Given the description of an element on the screen output the (x, y) to click on. 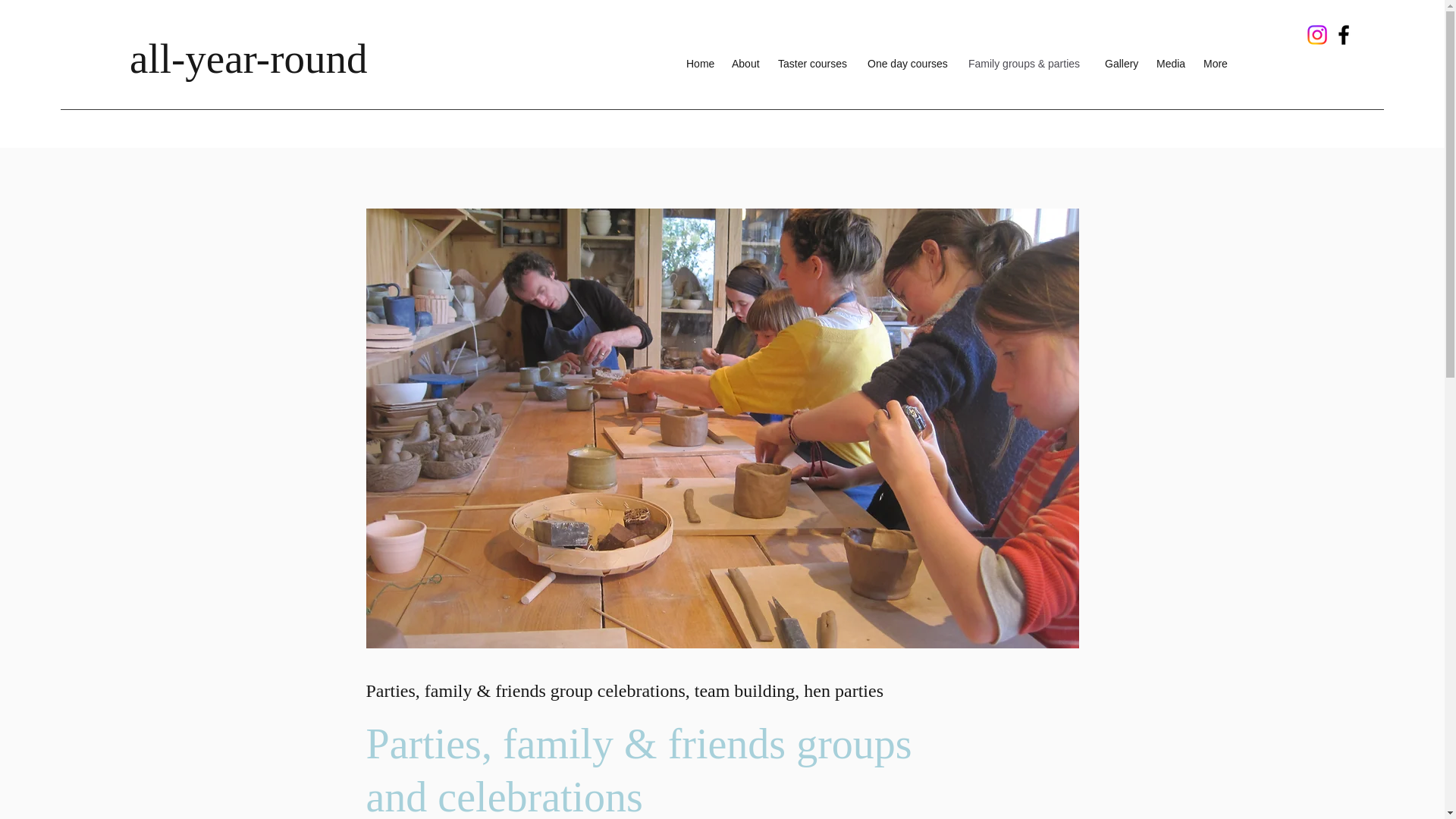
all-year-round (247, 58)
Home (700, 62)
Taster courses (815, 62)
Media (1171, 62)
One day courses (910, 62)
About (746, 62)
Gallery (1122, 62)
